Given the description of an element on the screen output the (x, y) to click on. 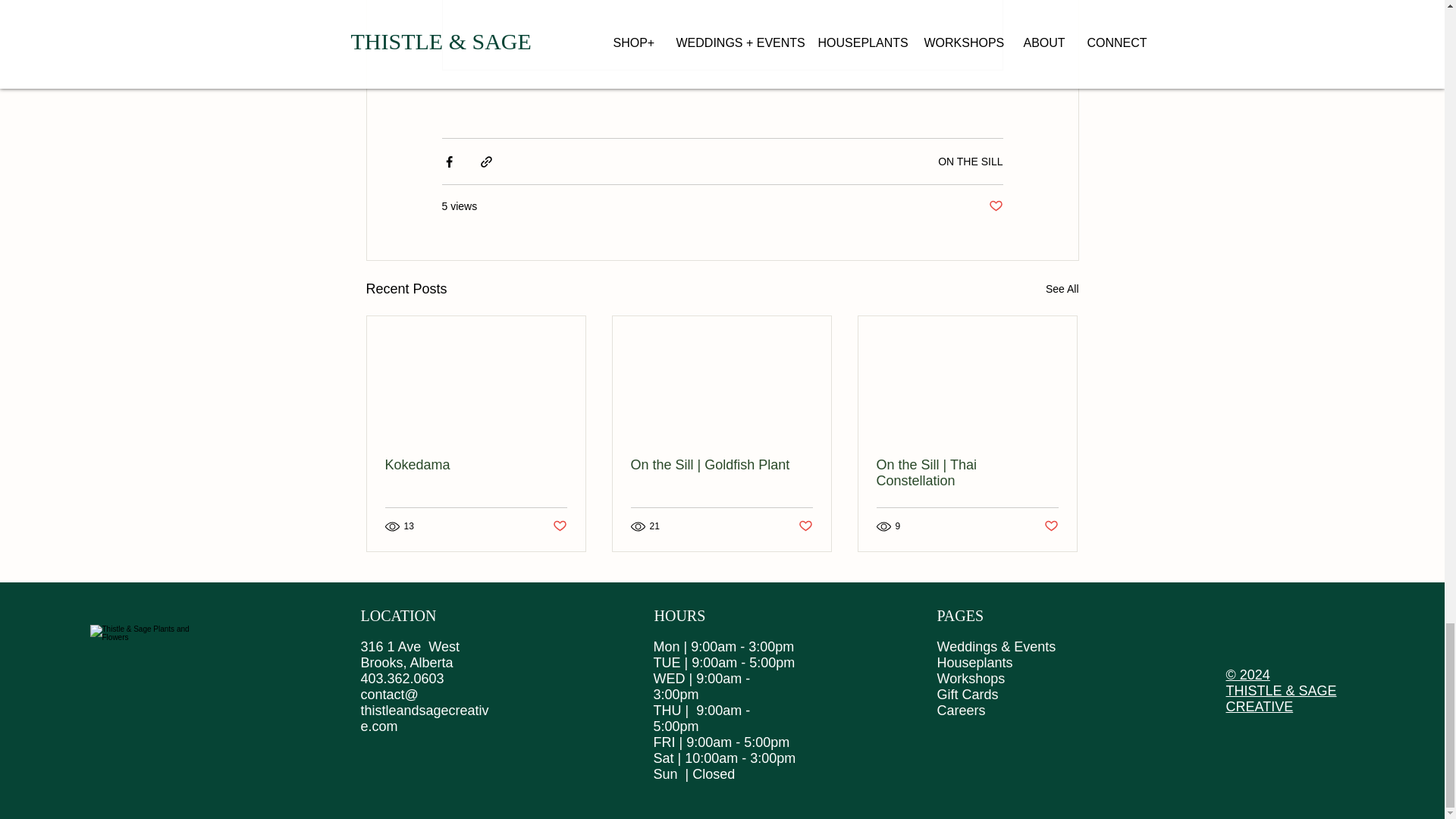
Houseplants (975, 662)
Post not marked as liked (1050, 526)
ON THE SILL (970, 161)
Post not marked as liked (995, 206)
Kokedama (476, 465)
Post not marked as liked (804, 526)
Post not marked as liked (558, 526)
See All (1061, 289)
Workshops (971, 678)
